Given the description of an element on the screen output the (x, y) to click on. 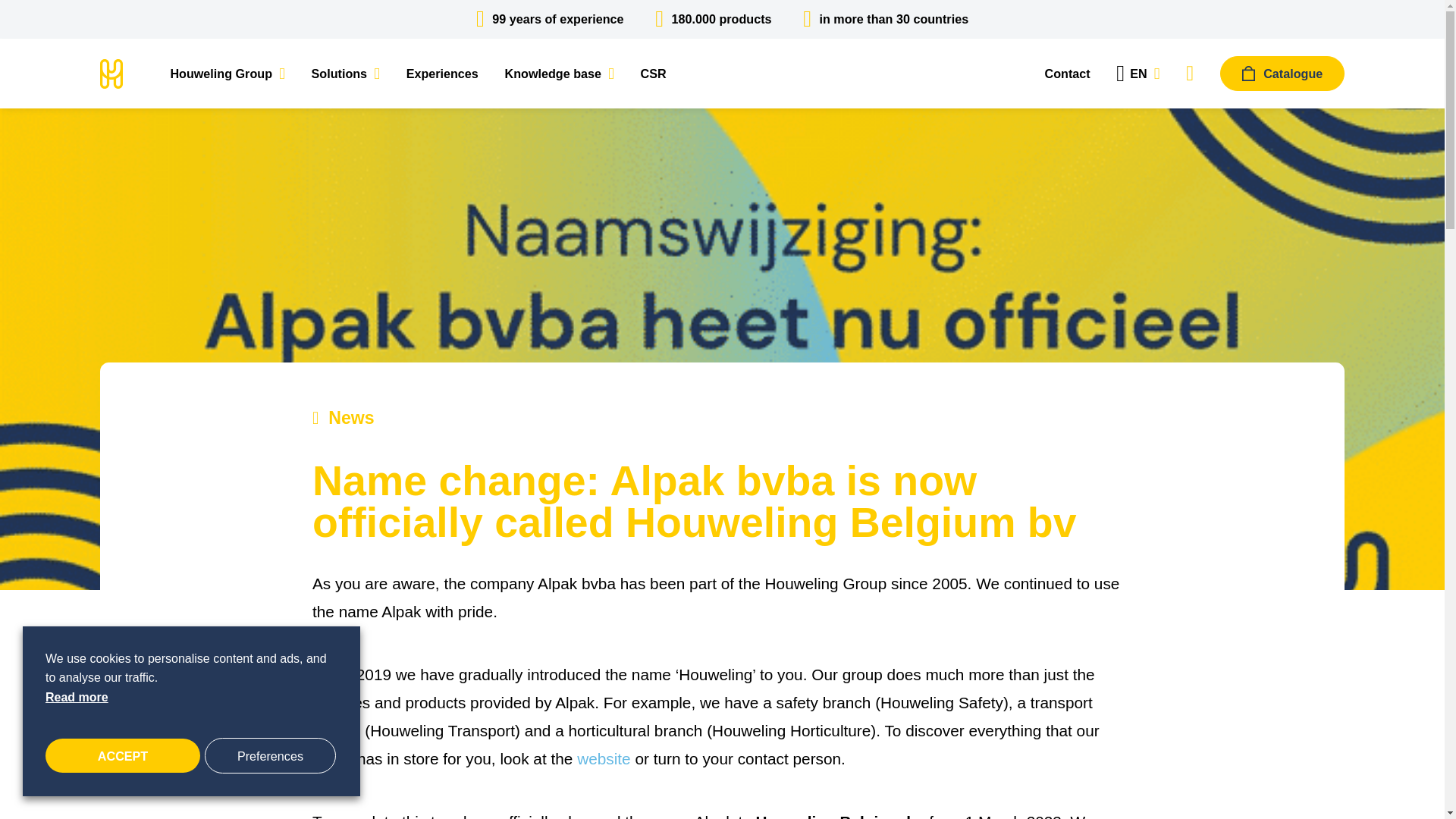
Knowledge base (557, 72)
Houweling Group (226, 72)
Houweling Homepage (111, 72)
Experiences (442, 72)
Contact (1066, 72)
EN (1137, 73)
Solutions (345, 72)
